Given the description of an element on the screen output the (x, y) to click on. 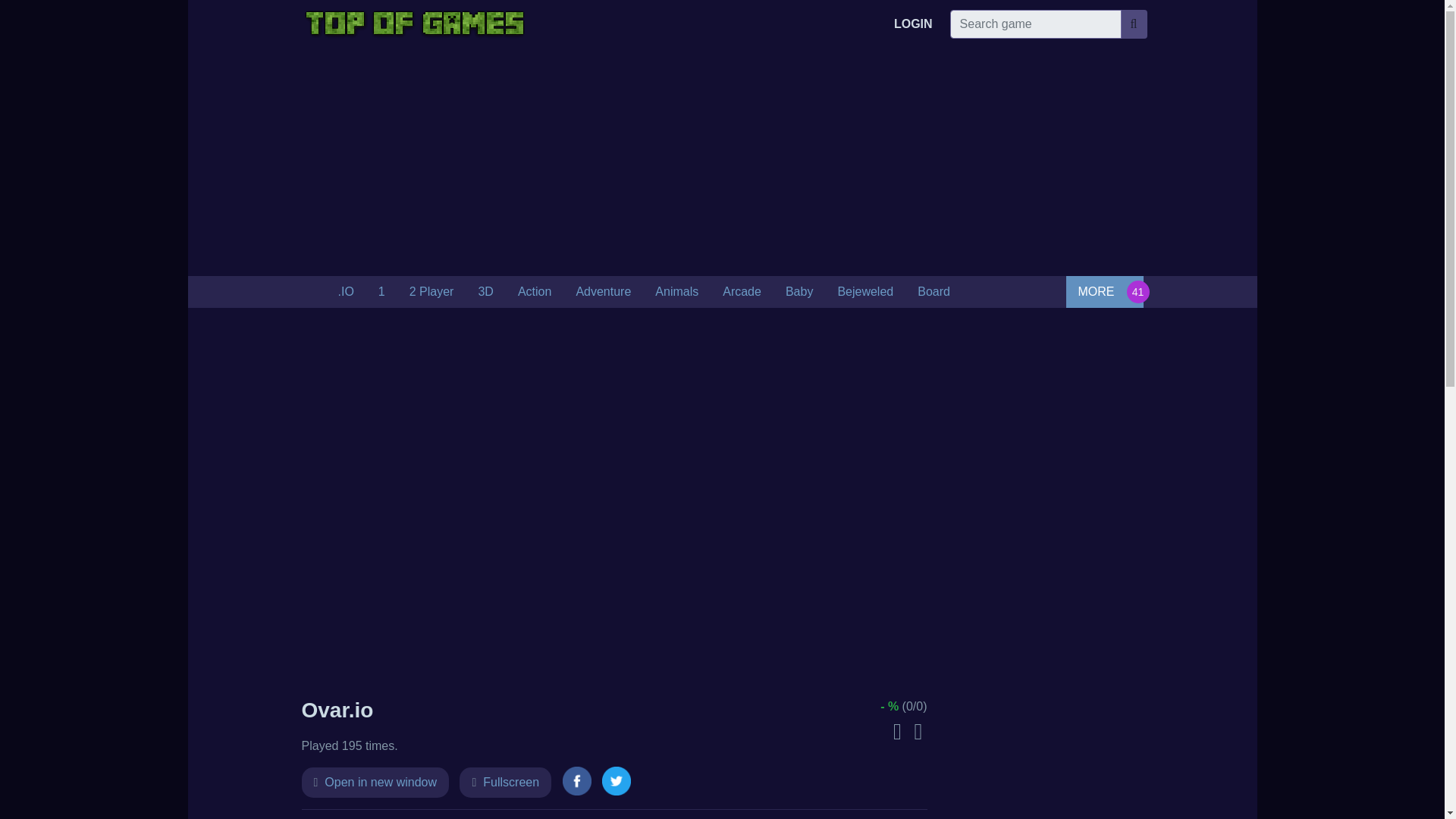
Adventure (603, 291)
LOGIN (913, 24)
Board (933, 291)
Baby (799, 291)
2 Player (431, 291)
3D (485, 291)
.IO (346, 291)
Animals (676, 291)
1 (381, 291)
Arcade (741, 291)
Action (534, 291)
Bejeweled (865, 291)
MORE (1103, 291)
